Given the description of an element on the screen output the (x, y) to click on. 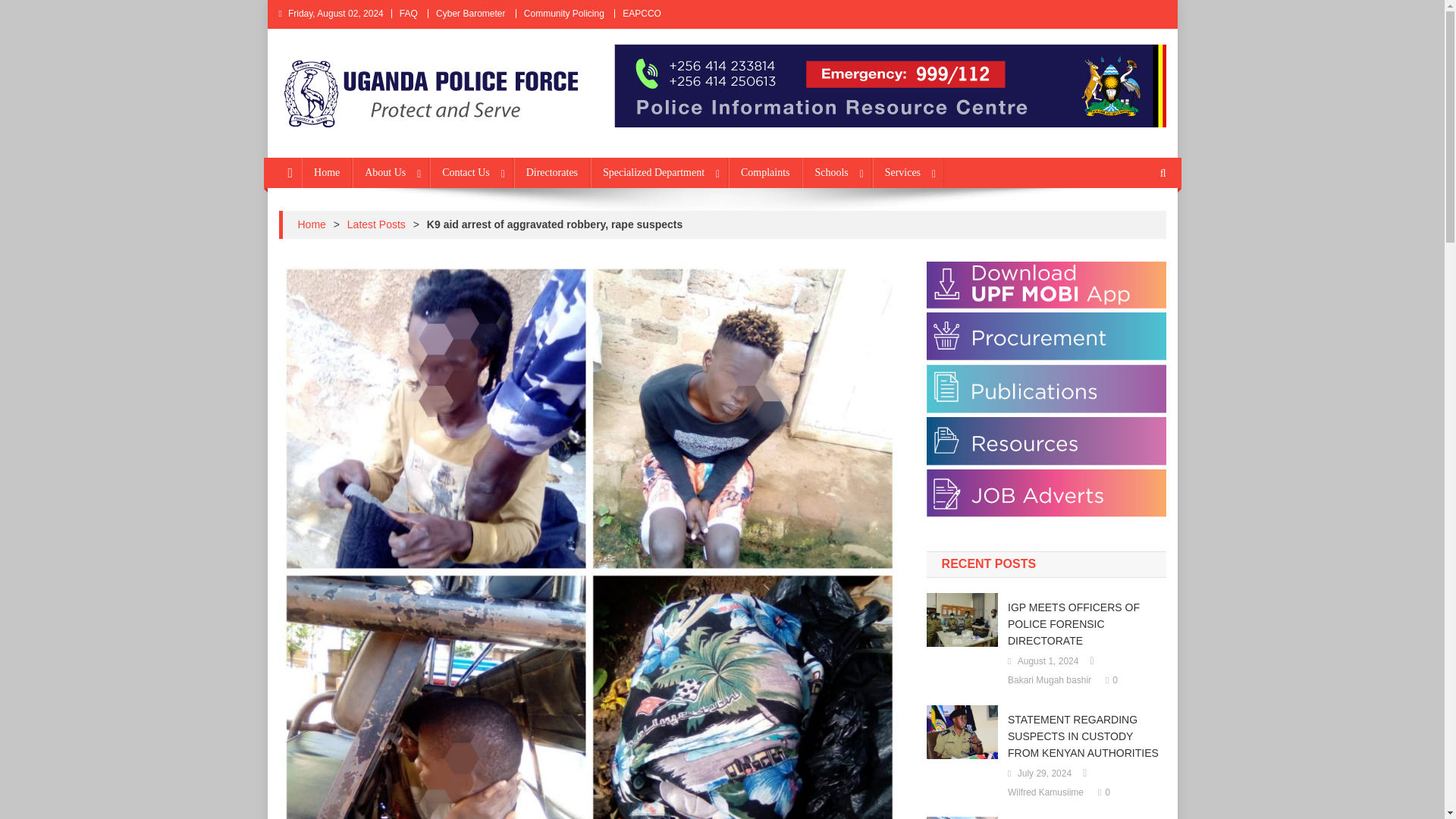
Search (1133, 223)
EAPCCO (642, 13)
About Us (390, 173)
Schools (836, 173)
Directorates (551, 173)
Latest Posts (376, 224)
FAQ (407, 13)
Contact Us (471, 173)
Community Policing (564, 13)
Cyber Barometer (470, 13)
Home (310, 224)
Complaints (765, 173)
Services (907, 173)
Uganda Police Force (399, 142)
Home (326, 173)
